Given the description of an element on the screen output the (x, y) to click on. 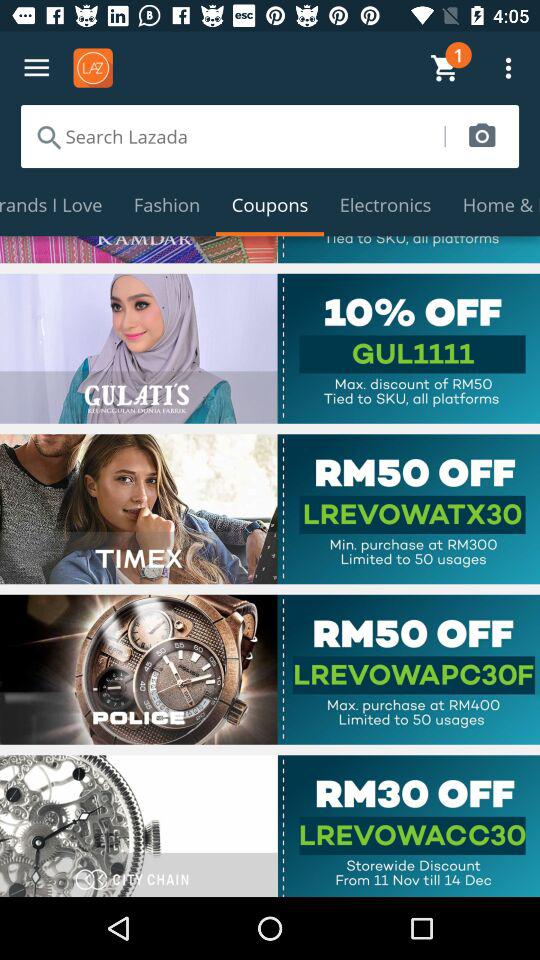
select coupon (270, 509)
